Given the description of an element on the screen output the (x, y) to click on. 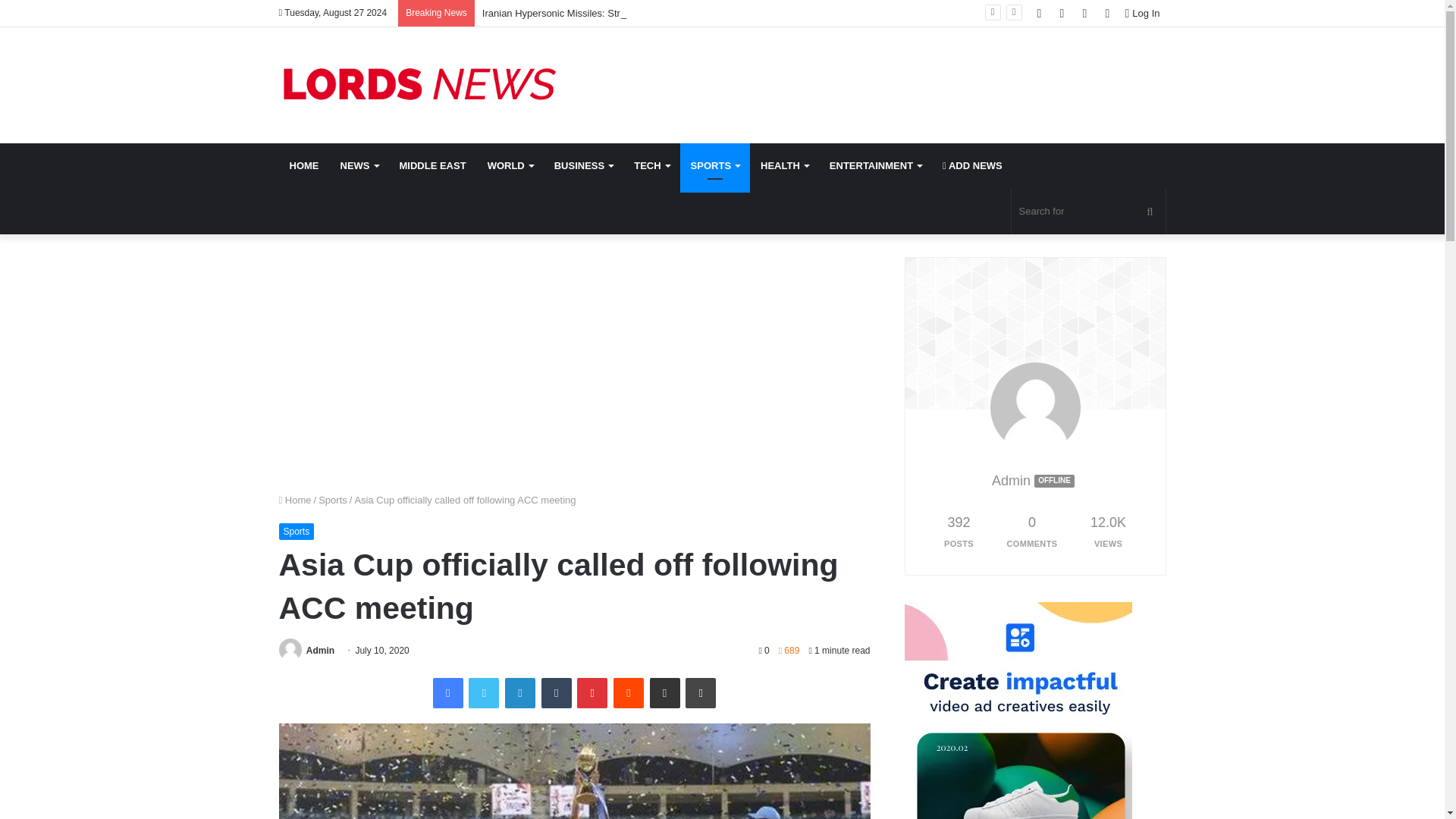
Print (700, 693)
Facebook (447, 693)
MIDDLE EAST (432, 166)
Reddit (627, 693)
Sports (332, 500)
ADD NEWS (972, 166)
Twitter (483, 693)
Facebook (447, 693)
Advertisement (574, 363)
BUSINESS (583, 166)
